Given the description of an element on the screen output the (x, y) to click on. 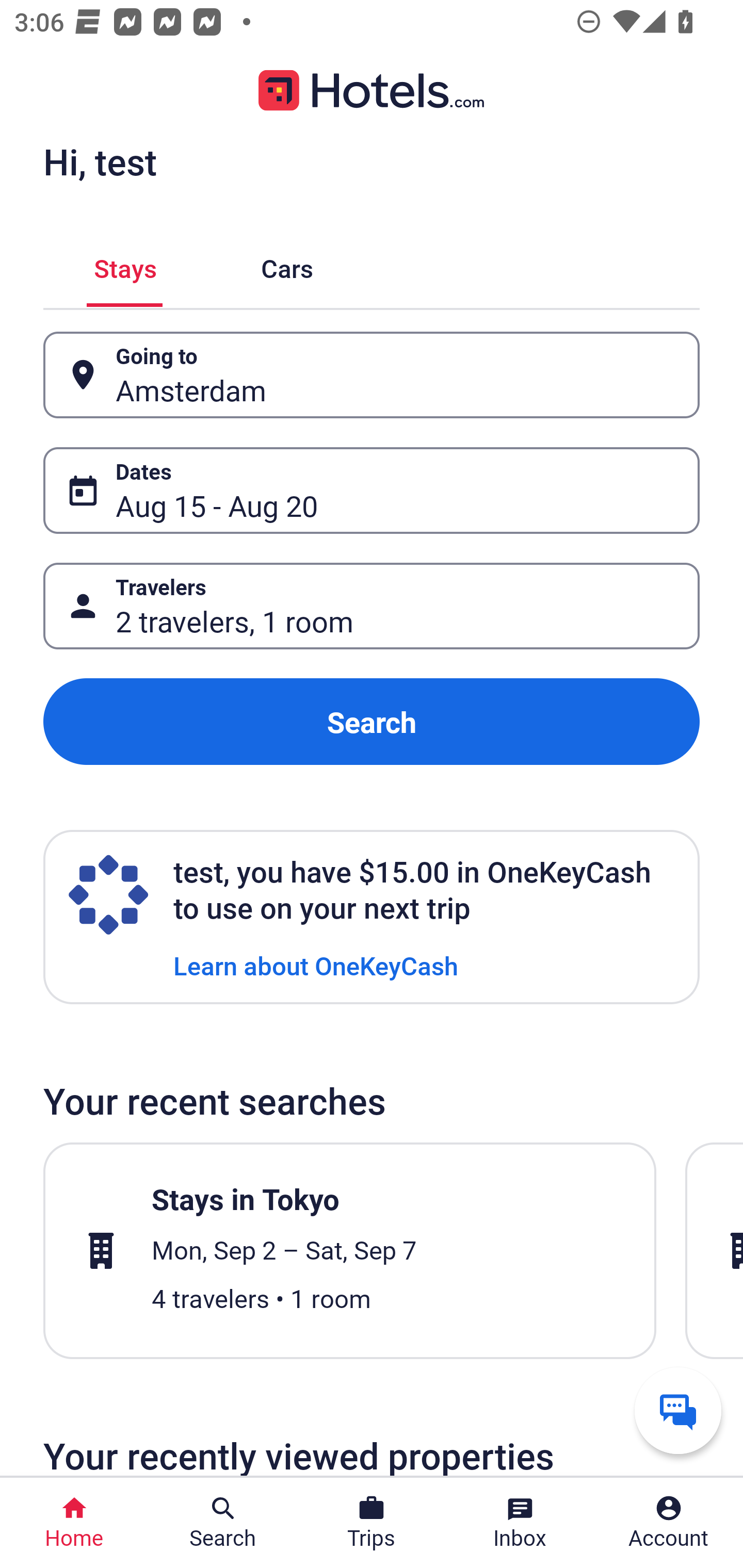
Hi, test (99, 161)
Cars (286, 265)
Going to Button Amsterdam (371, 375)
Dates Button Aug 15 - Aug 20 (371, 489)
Travelers Button 2 travelers, 1 room (371, 605)
Search (371, 721)
Learn about OneKeyCash Learn about OneKeyCash Link (315, 964)
Get help from a virtual agent (677, 1410)
Search Search Button (222, 1522)
Trips Trips Button (371, 1522)
Inbox Inbox Button (519, 1522)
Account Profile. Button (668, 1522)
